Given the description of an element on the screen output the (x, y) to click on. 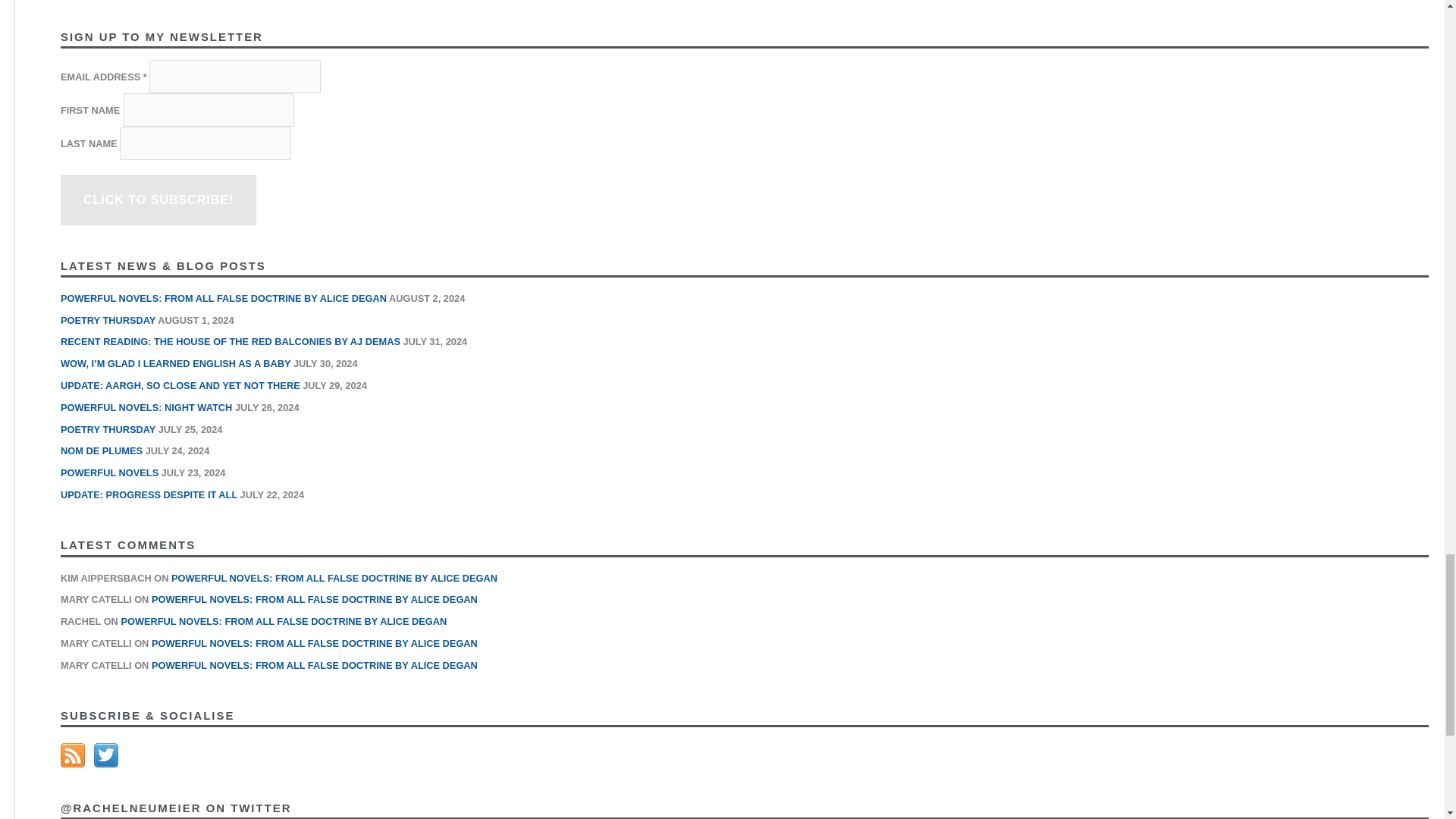
Click to Subscribe! (158, 200)
Search (1411, 2)
Search (1411, 2)
Search (1411, 2)
Click to Subscribe! (158, 200)
POWERFUL NOVELS: FROM ALL FALSE DOCTRINE BY ALICE DEGAN (224, 297)
POETRY THURSDAY (108, 319)
